Given the description of an element on the screen output the (x, y) to click on. 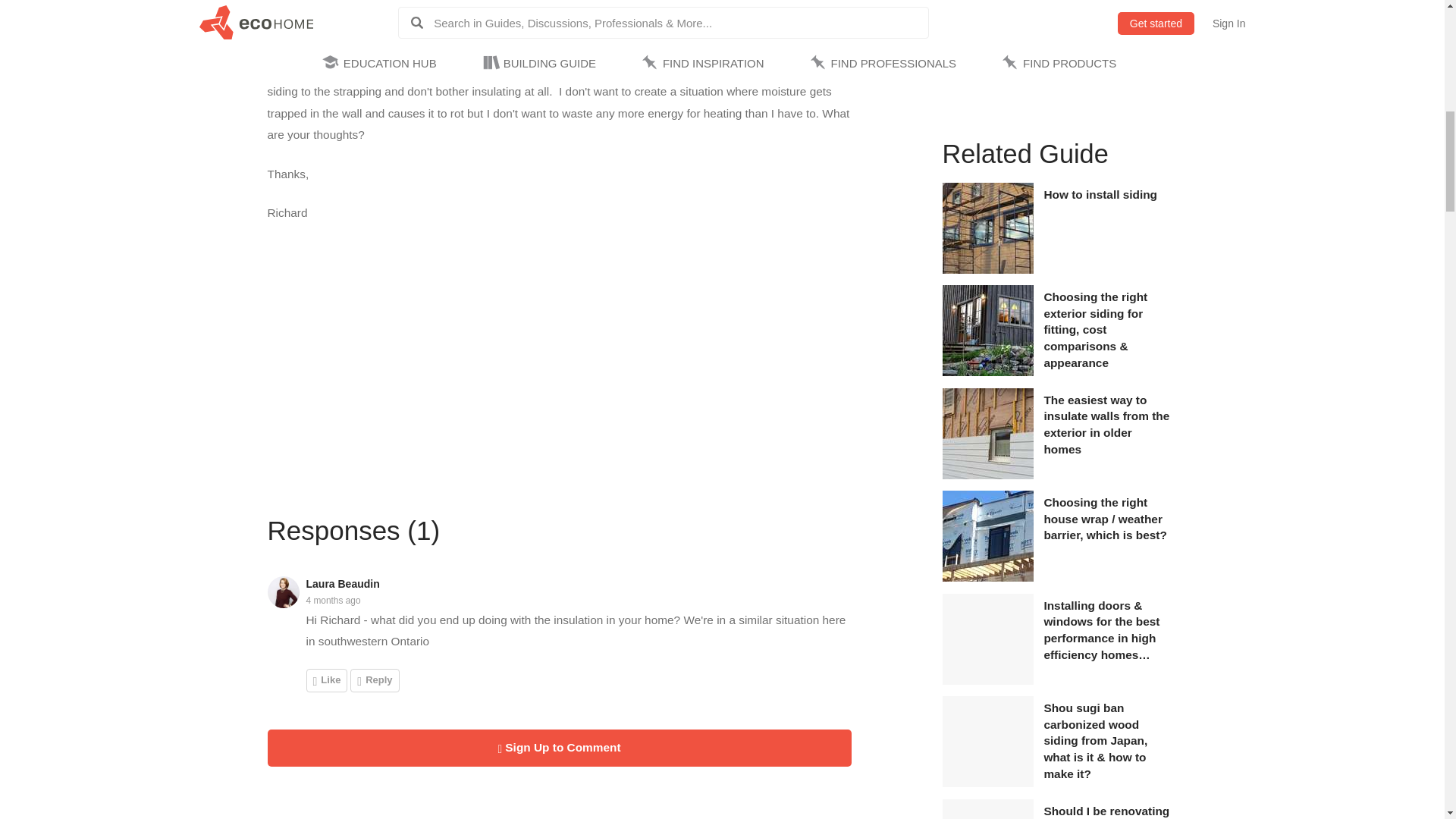
Choosing a house wrap, which is best? (987, 577)
How to install siding so walls can dry (987, 269)
How to install siding (1107, 194)
How to Insulate Exterior Walls from the Outside (987, 475)
Shou sugi ban Burnt Wood Siding, a Japanese Wood Finish (987, 783)
